Given the description of an element on the screen output the (x, y) to click on. 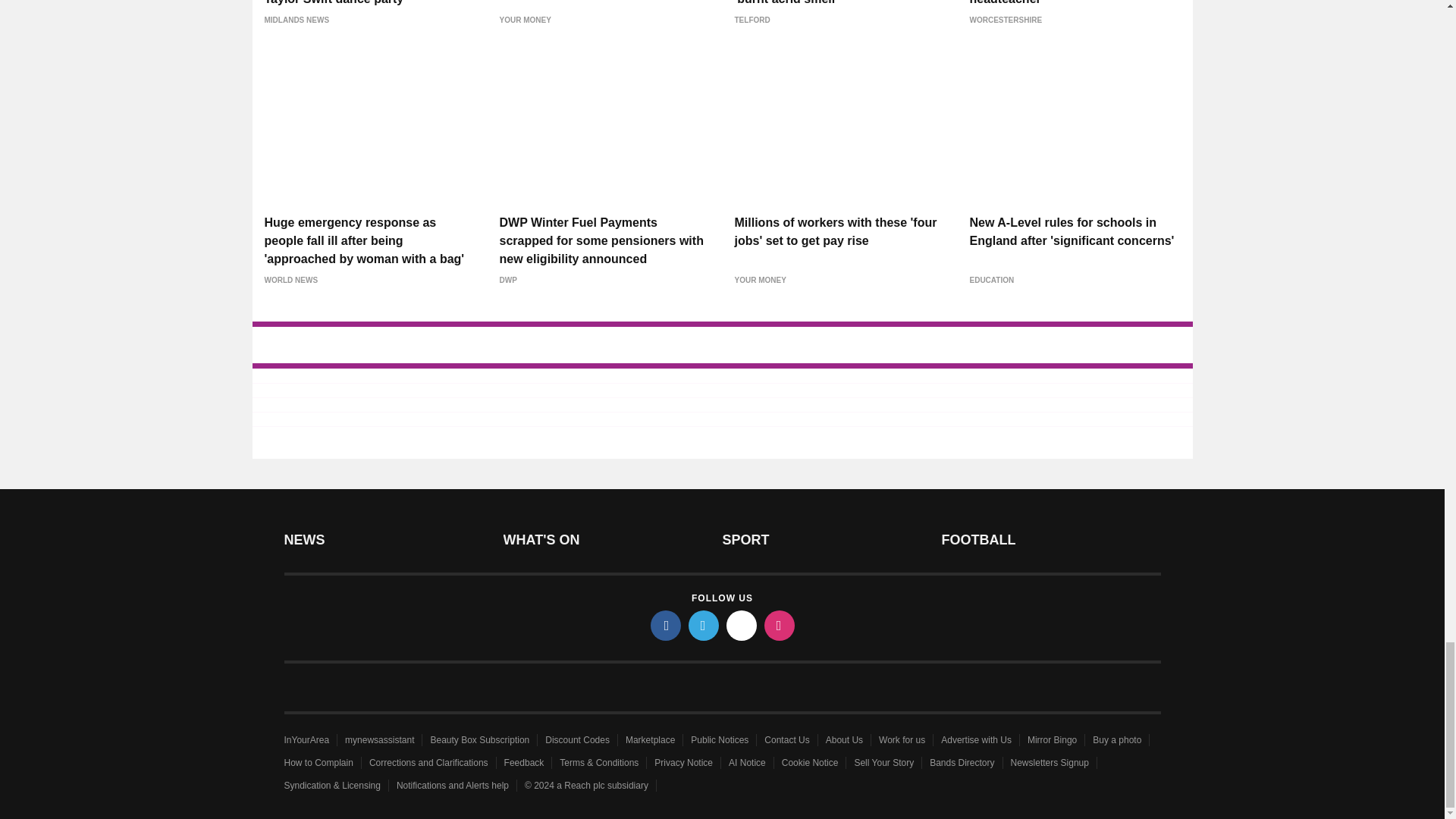
tiktok (741, 625)
twitter (703, 625)
facebook (665, 625)
instagram (779, 625)
